Given the description of an element on the screen output the (x, y) to click on. 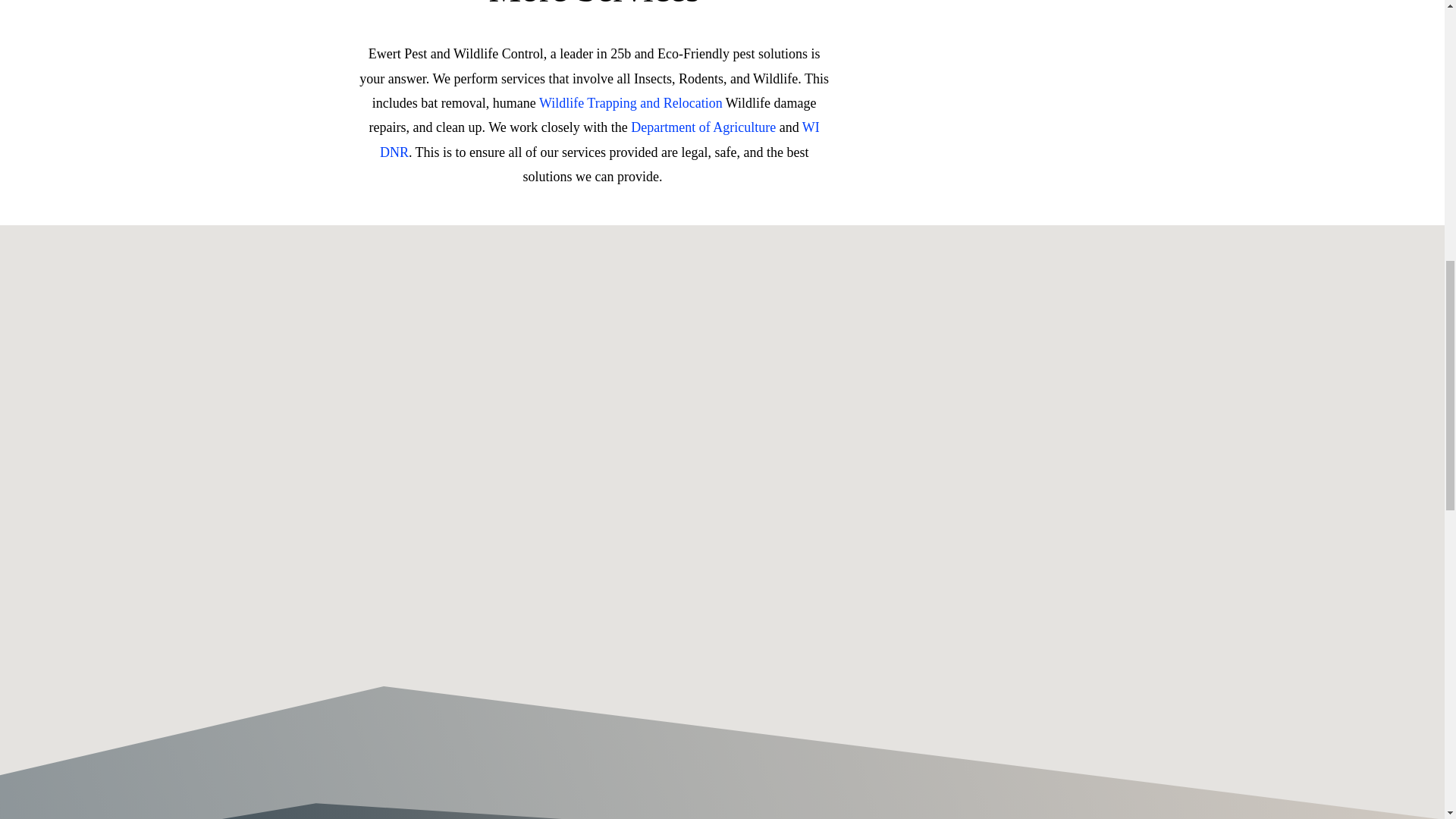
Department of Agriculture (703, 127)
Wildlife Trapping and Relocation (630, 102)
WI DNR (599, 138)
